Given the description of an element on the screen output the (x, y) to click on. 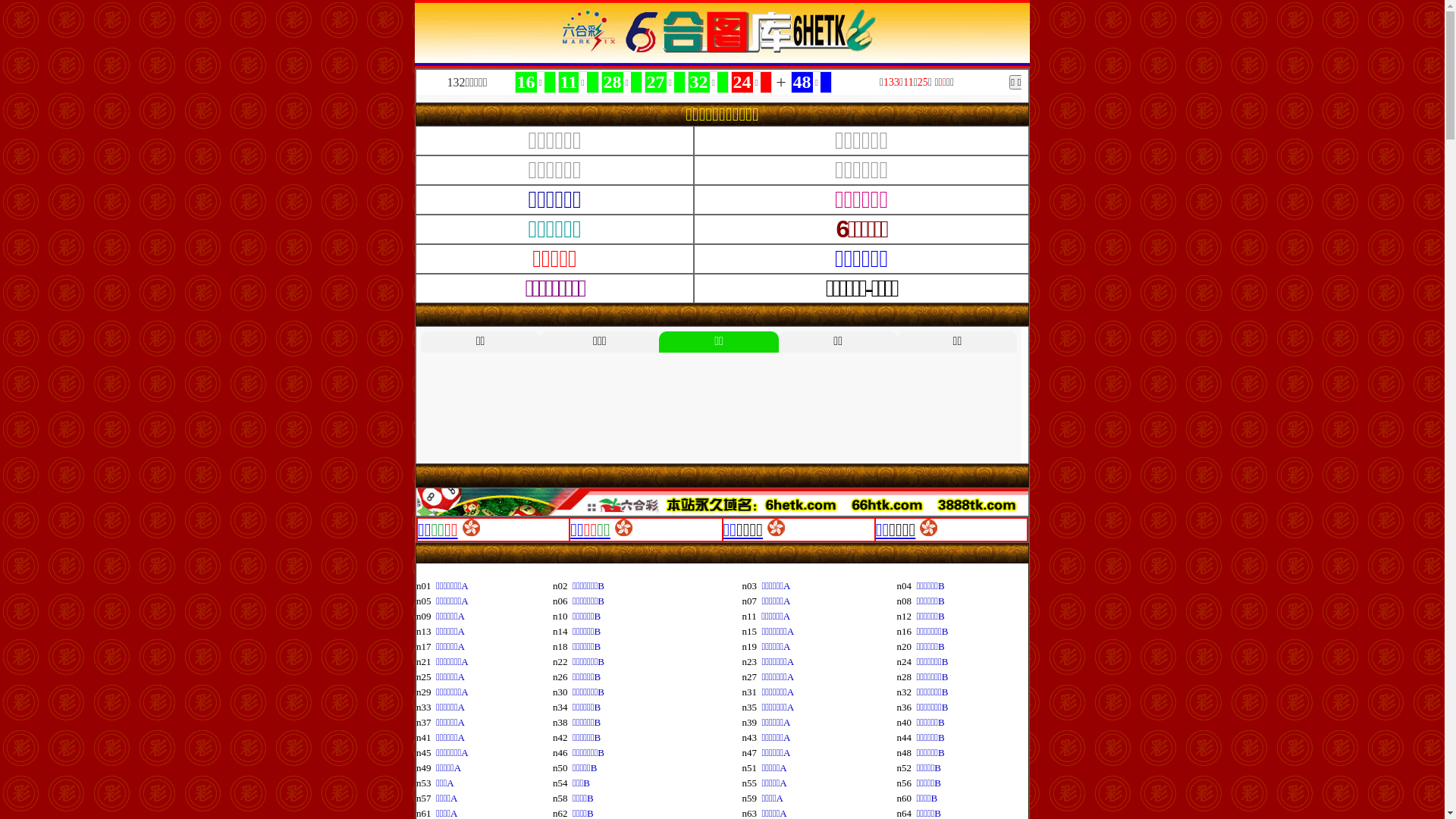
n27  Element type: text (752, 676)
n23  Element type: text (752, 661)
n17  Element type: text (426, 646)
n51  Element type: text (752, 767)
n48  Element type: text (906, 752)
n08  Element type: text (906, 600)
n47  Element type: text (752, 752)
n44  Element type: text (906, 737)
n09  Element type: text (426, 615)
n21  Element type: text (426, 661)
n45  Element type: text (426, 752)
n02  Element type: text (562, 585)
n28  Element type: text (906, 676)
n19  Element type: text (752, 646)
n40  Element type: text (906, 722)
n24  Element type: text (906, 661)
n16  Element type: text (906, 631)
n18  Element type: text (562, 646)
n60  Element type: text (906, 797)
n39  Element type: text (752, 722)
n49  Element type: text (426, 767)
n38  Element type: text (562, 722)
n06  Element type: text (562, 600)
n42  Element type: text (562, 737)
n37  Element type: text (426, 722)
n15  Element type: text (752, 631)
n52  Element type: text (906, 767)
n41  Element type: text (426, 737)
n20  Element type: text (906, 646)
n56  Element type: text (906, 782)
n34  Element type: text (562, 706)
n55  Element type: text (752, 782)
n43  Element type: text (752, 737)
n31  Element type: text (752, 691)
n26  Element type: text (562, 676)
n46  Element type: text (562, 752)
n03  Element type: text (752, 585)
n33  Element type: text (426, 706)
n35  Element type: text (752, 706)
n25  Element type: text (426, 676)
n32  Element type: text (906, 691)
n12  Element type: text (906, 615)
n05  Element type: text (426, 600)
n10  Element type: text (562, 615)
n54  Element type: text (562, 782)
n11  Element type: text (752, 615)
n53  Element type: text (426, 782)
n04  Element type: text (906, 585)
n57  Element type: text (426, 797)
n07  Element type: text (752, 600)
n01  Element type: text (426, 585)
n36  Element type: text (906, 706)
n22  Element type: text (562, 661)
n58  Element type: text (562, 797)
n59  Element type: text (752, 797)
n13  Element type: text (426, 631)
n50  Element type: text (562, 767)
n30  Element type: text (562, 691)
n29  Element type: text (426, 691)
n14  Element type: text (562, 631)
